Given the description of an element on the screen output the (x, y) to click on. 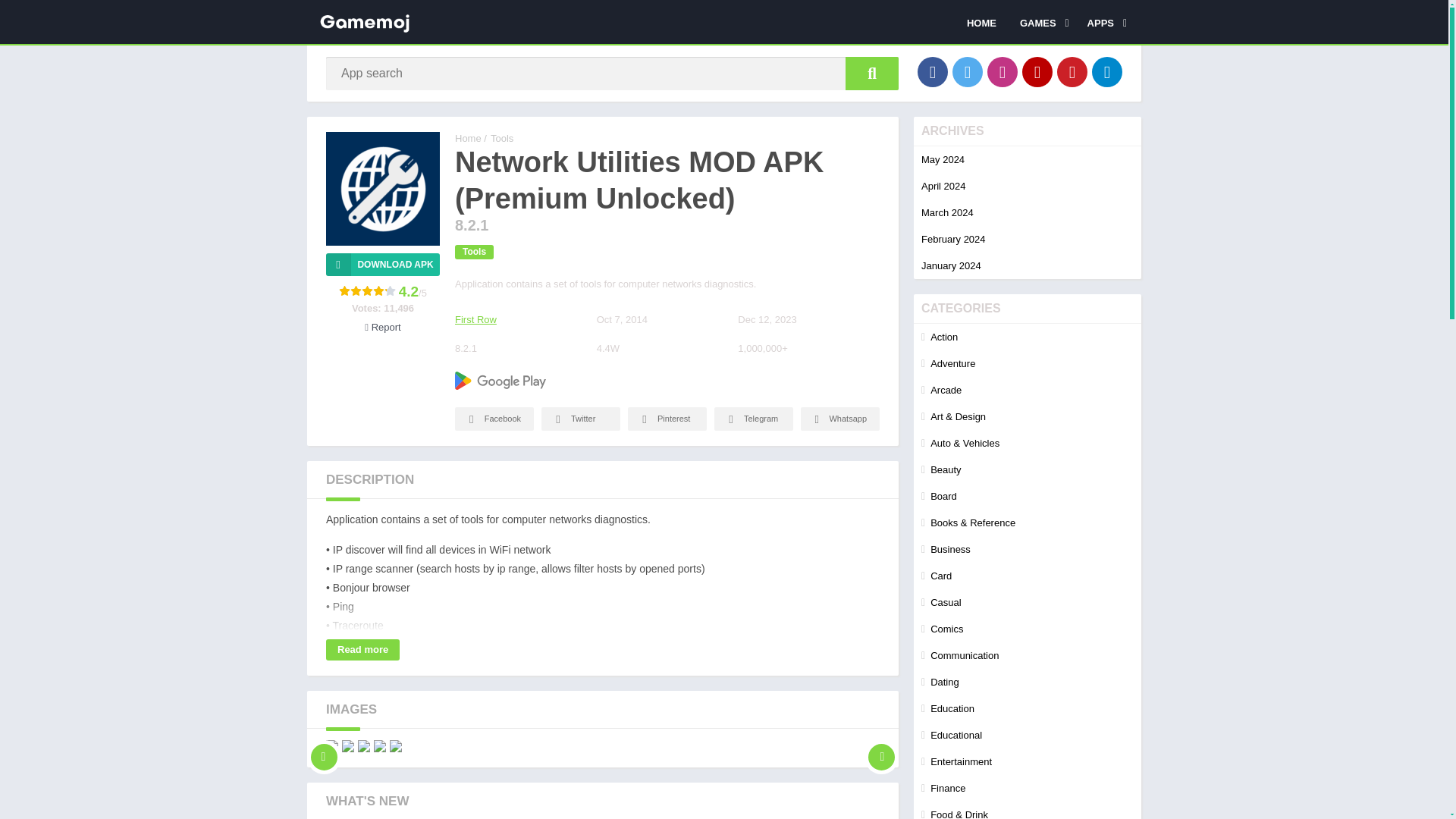
Instagram (1002, 71)
Twitter (967, 71)
Next (881, 746)
Download APK (382, 264)
App search (871, 73)
GameMoj (467, 138)
Facebook (932, 71)
Telegram (1107, 71)
Pinterest (1072, 71)
YouTube (1037, 71)
Previous (323, 746)
